Given the description of an element on the screen output the (x, y) to click on. 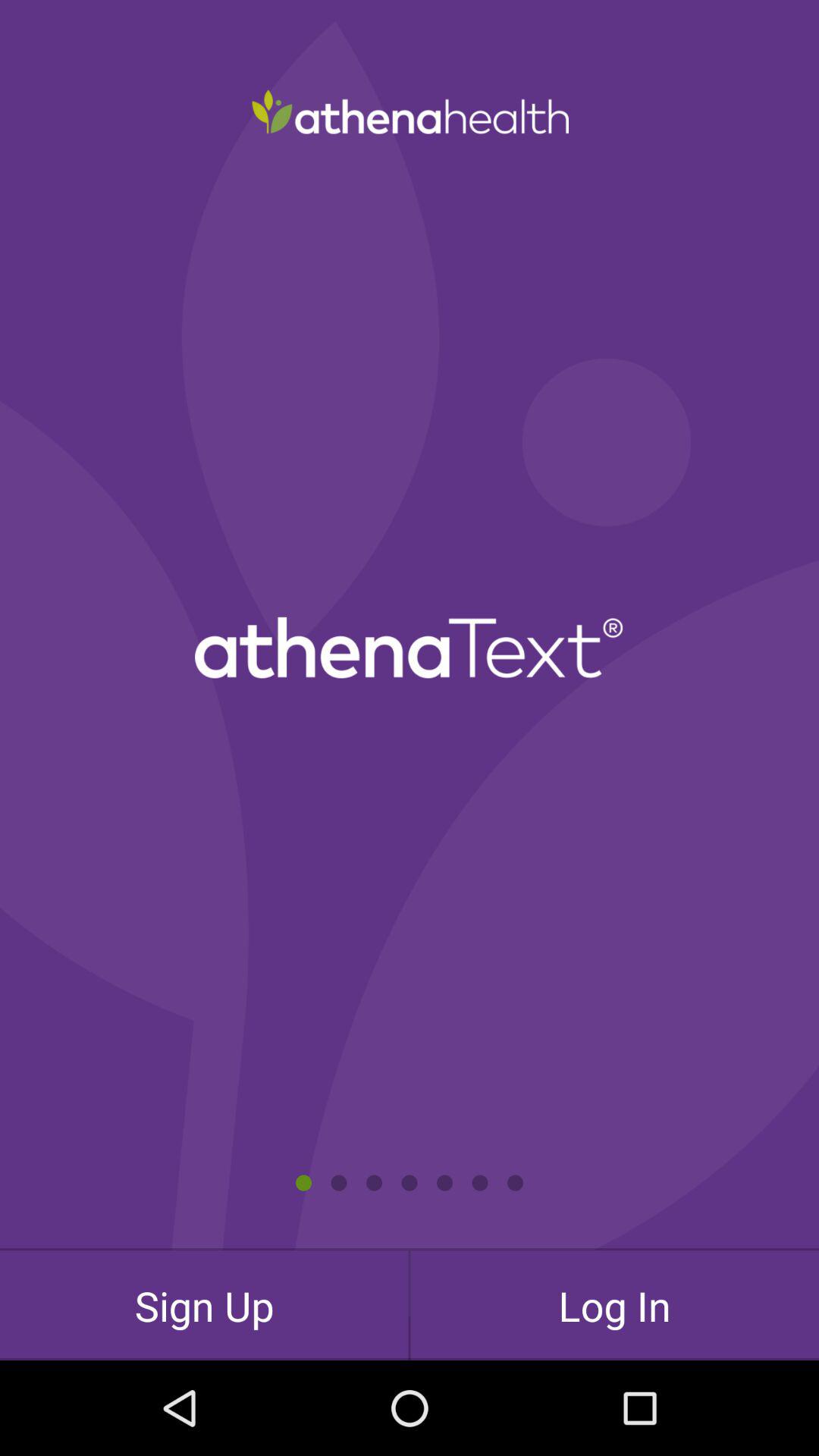
turn off the log in item (614, 1305)
